Given the description of an element on the screen output the (x, y) to click on. 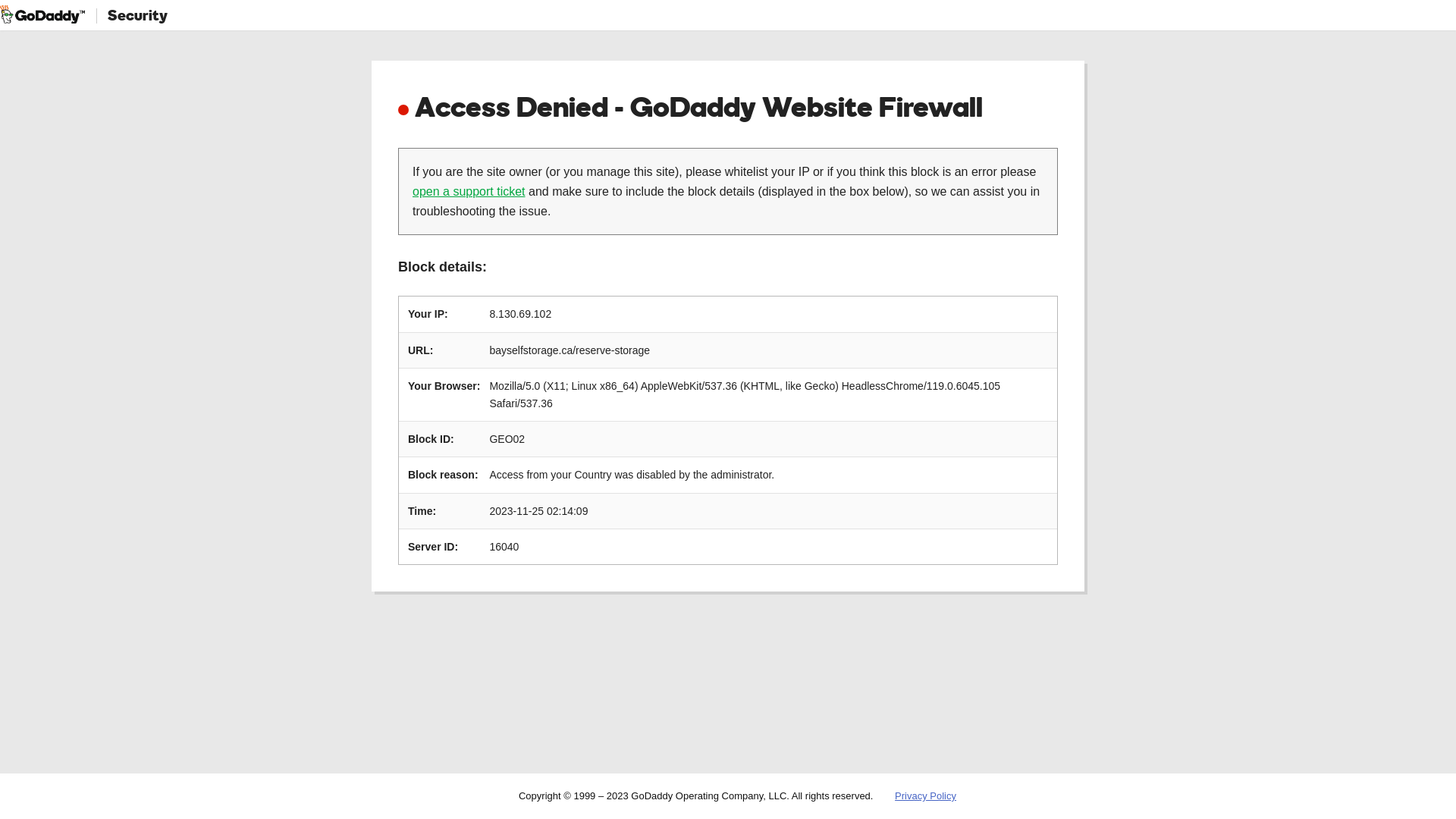
open a support ticket Element type: text (468, 191)
Privacy Policy Element type: text (925, 795)
